Given the description of an element on the screen output the (x, y) to click on. 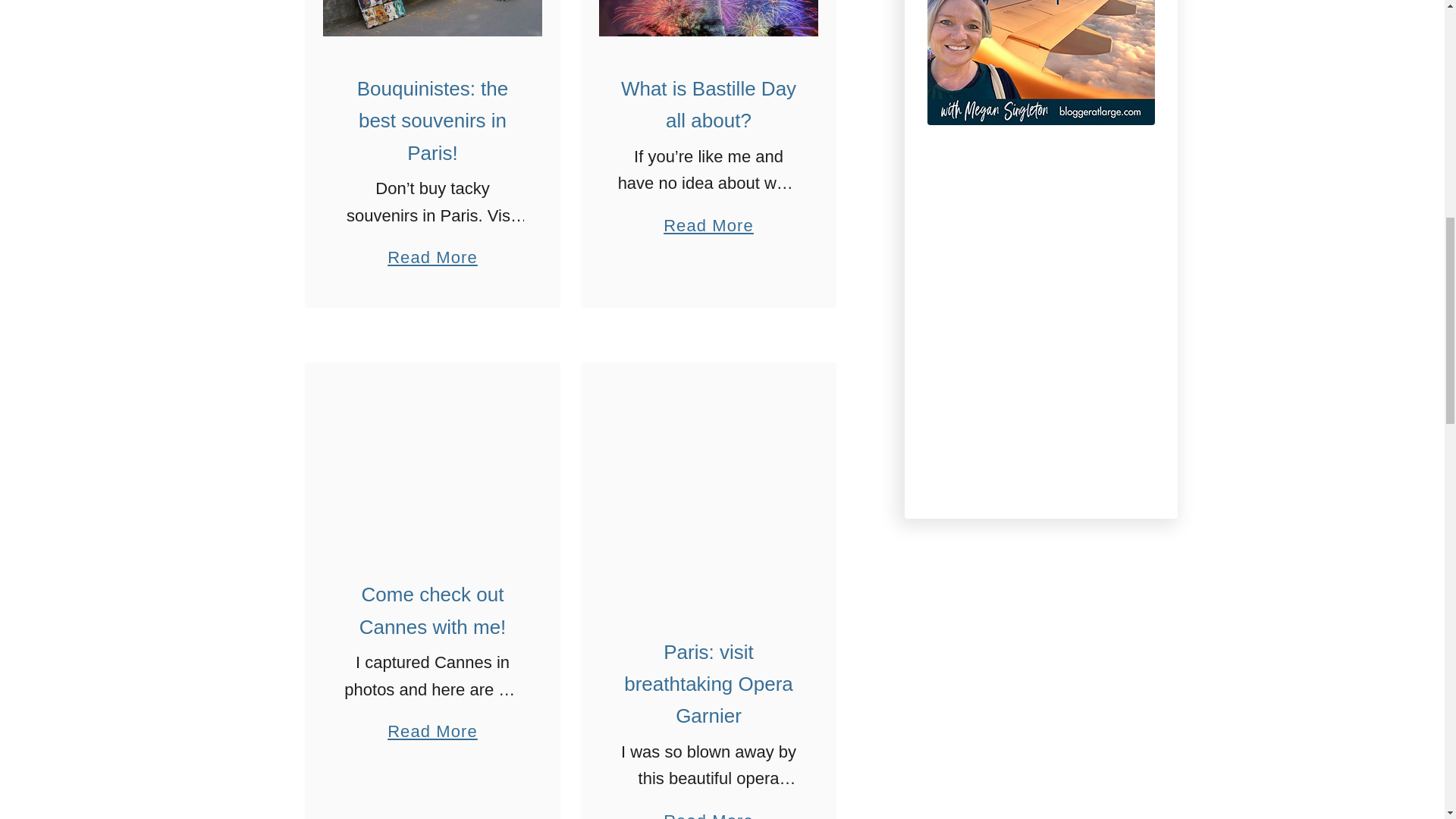
Bouquinistes: the best souvenirs in Paris! (432, 18)
Come check out Cannes with me! (432, 461)
Paris: visit breathtaking Opera Garnier (708, 489)
What is Bastille Day all about? (708, 18)
